Given the description of an element on the screen output the (x, y) to click on. 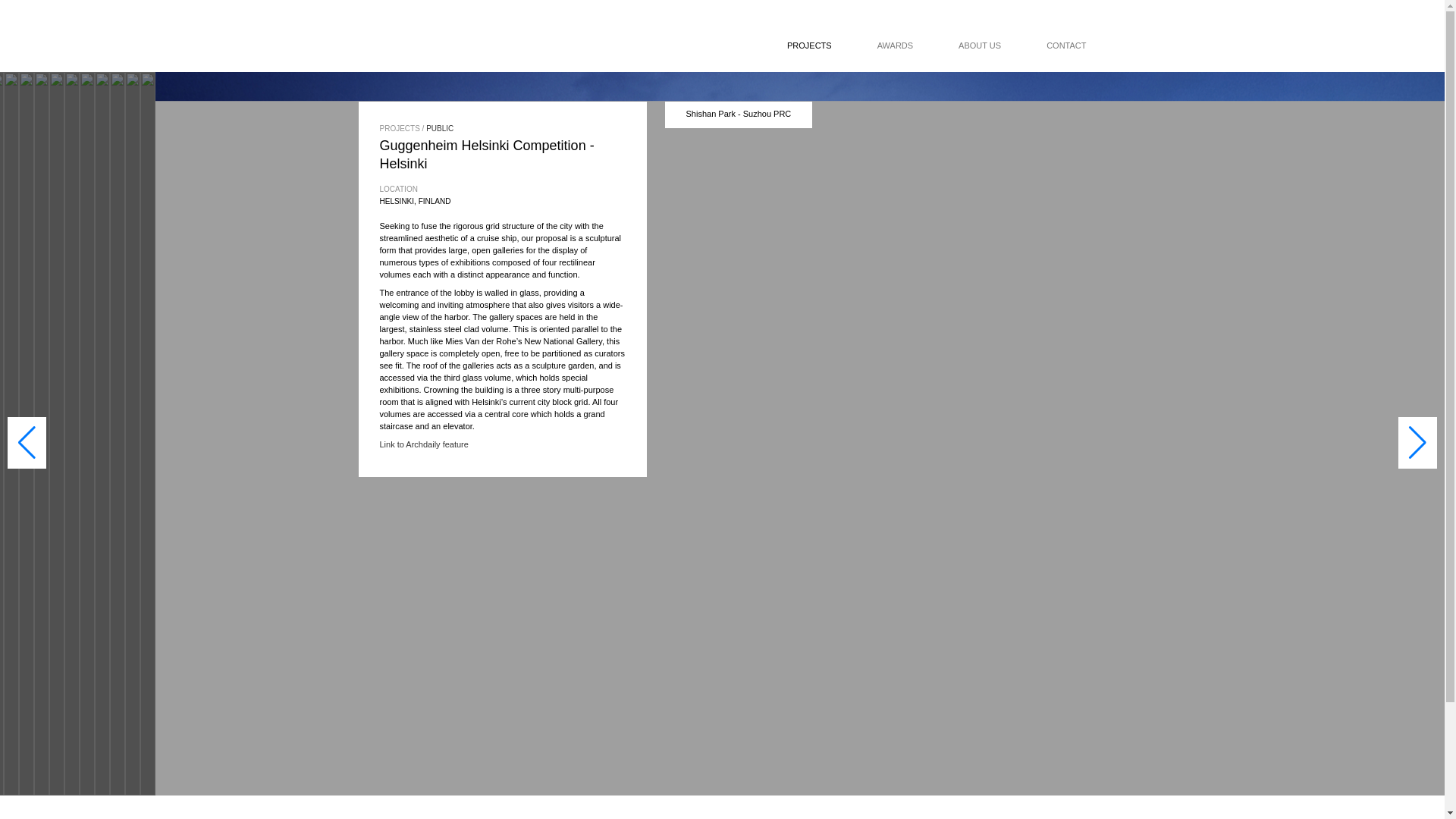
AWARDS (871, 45)
ABOUT US (956, 45)
PUBLIC (439, 128)
Guida Moseley Brown Architects (484, 45)
CONTACT (1043, 45)
Guida Moseley Brown Architects (484, 45)
Link to Archdaily feature (422, 443)
Shishan Park - Suzhou PRC (737, 112)
PROJECTS (797, 45)
Link to Archdaily feature (422, 443)
